Given the description of an element on the screen output the (x, y) to click on. 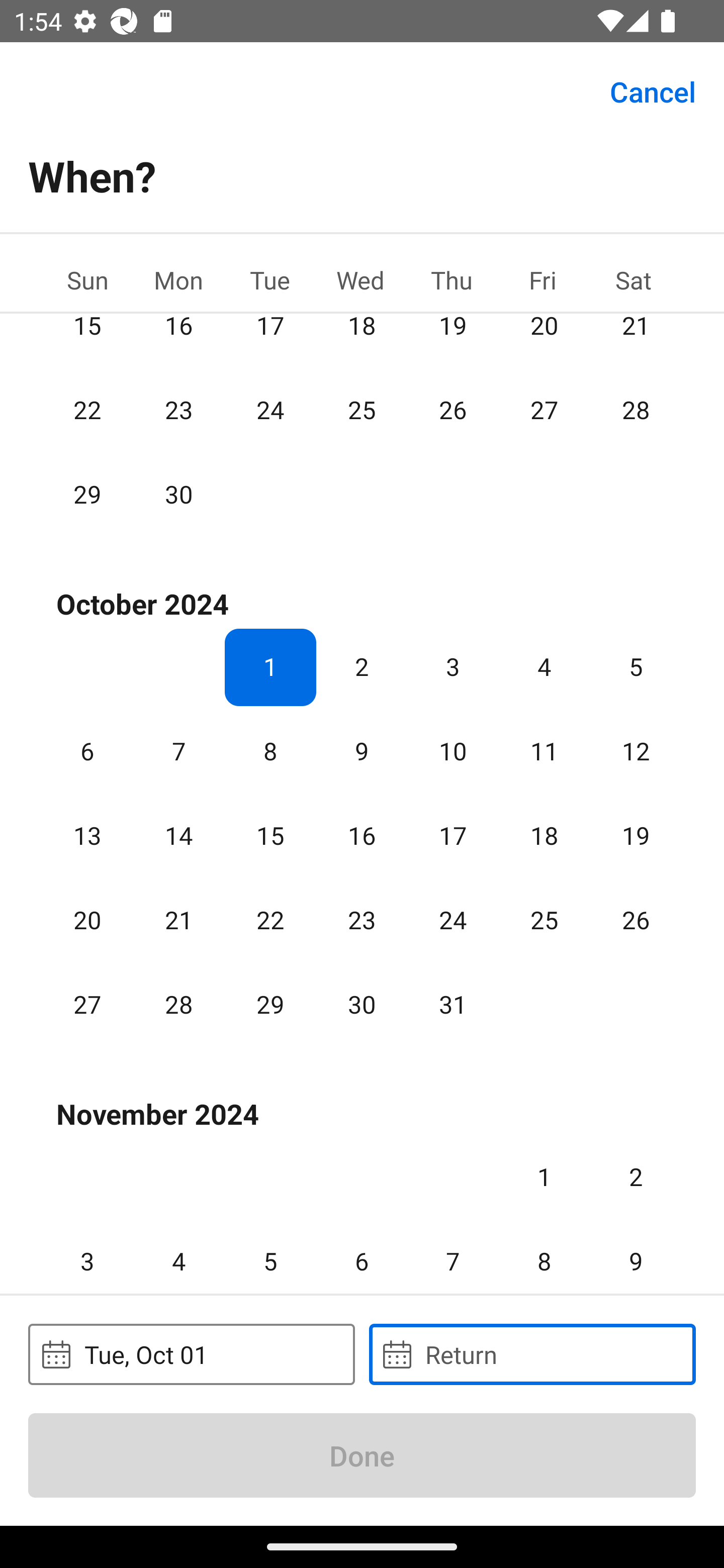
Cancel (652, 90)
Tue, Oct 01 (191, 1353)
Return (532, 1353)
Done (361, 1454)
